Given the description of an element on the screen output the (x, y) to click on. 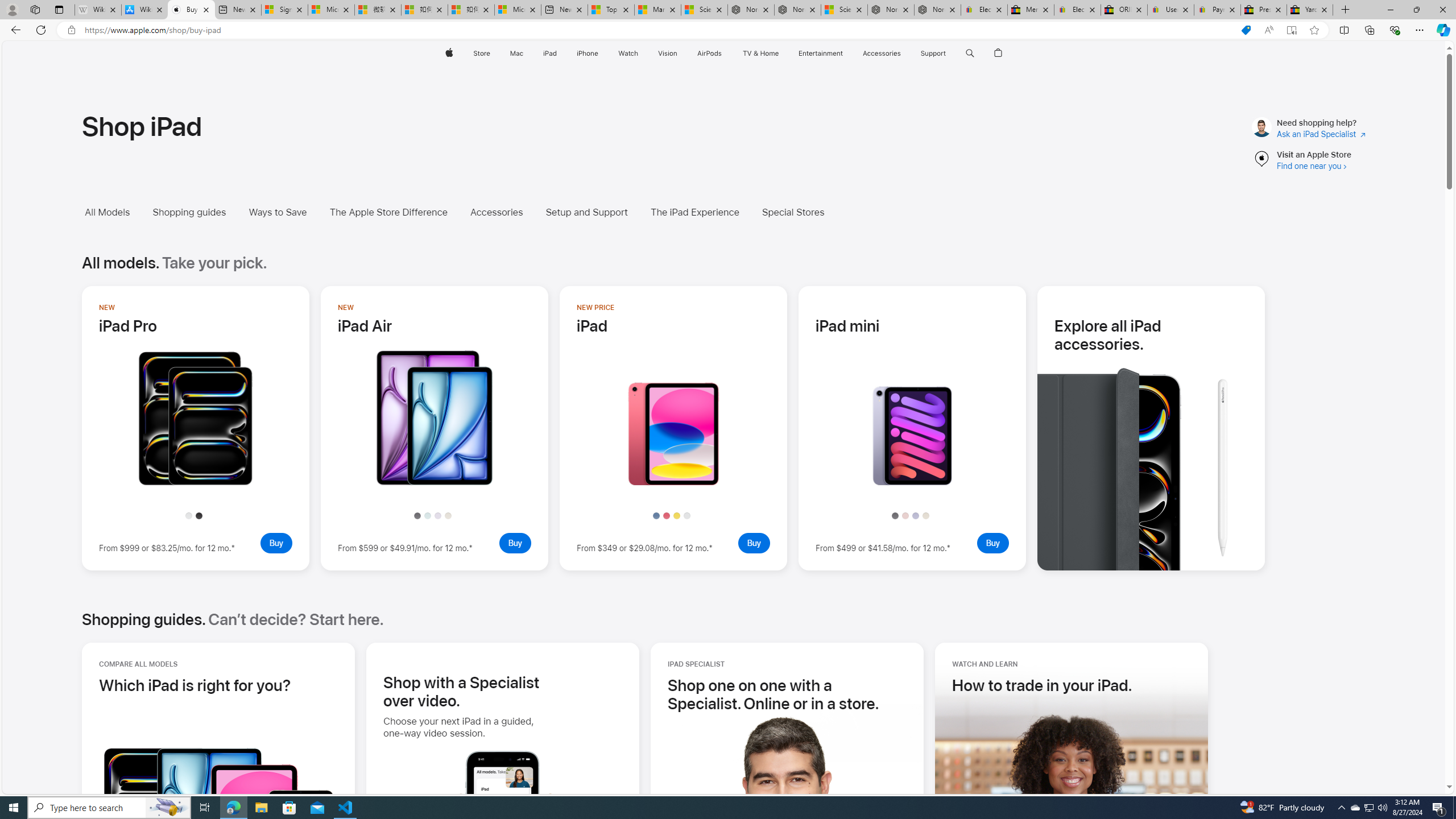
Entertainment menu (844, 53)
Watch menu (640, 53)
Ways to Save (277, 212)
Store (481, 53)
Explore all iPad accessories. (1117, 427)
Buy - iPad Pro  (276, 543)
All Models (115, 212)
Blue (655, 515)
Silver (687, 515)
